Given the description of an element on the screen output the (x, y) to click on. 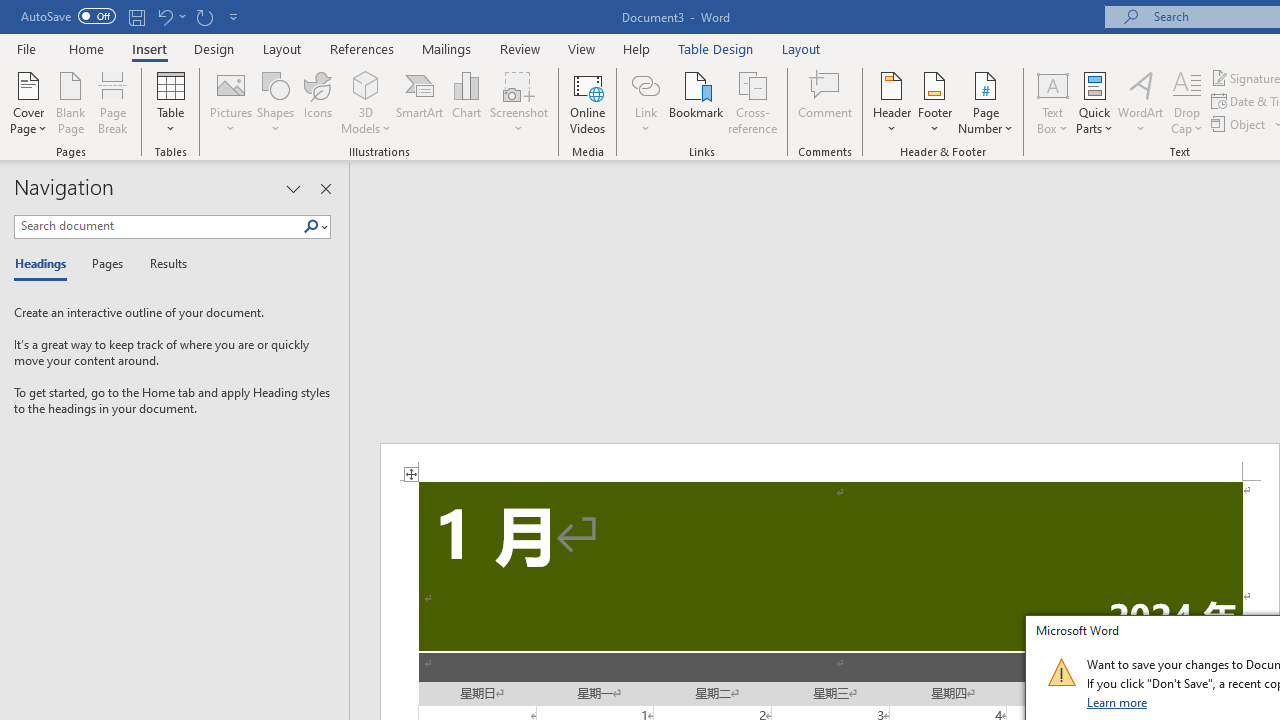
Icons (317, 102)
Header (891, 102)
Comment (825, 102)
Drop Cap (1187, 102)
Blank Page (70, 102)
WordArt (1141, 102)
